Given the description of an element on the screen output the (x, y) to click on. 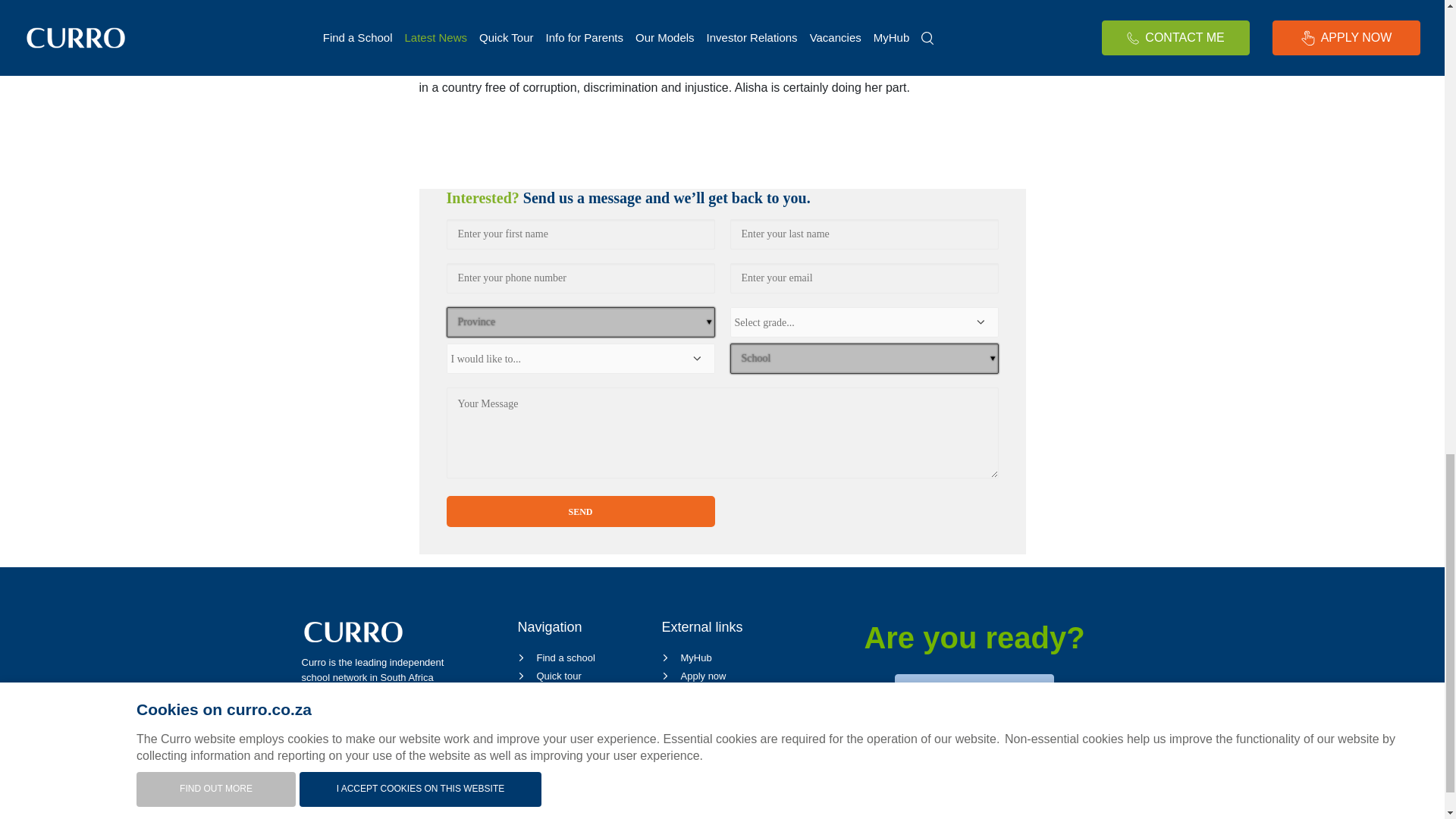
FIND A SCHOOL (974, 691)
Investor relations (563, 730)
PAIA (536, 785)
Your Message (721, 432)
Find a school (555, 657)
Apply now (693, 675)
CONTACT ME (974, 738)
MyHub (686, 657)
Info for parents (559, 694)
Quick tour (548, 675)
Latest news (552, 748)
SEND (579, 511)
Province (579, 320)
I would like to... (579, 358)
Select grade... (863, 322)
